Given the description of an element on the screen output the (x, y) to click on. 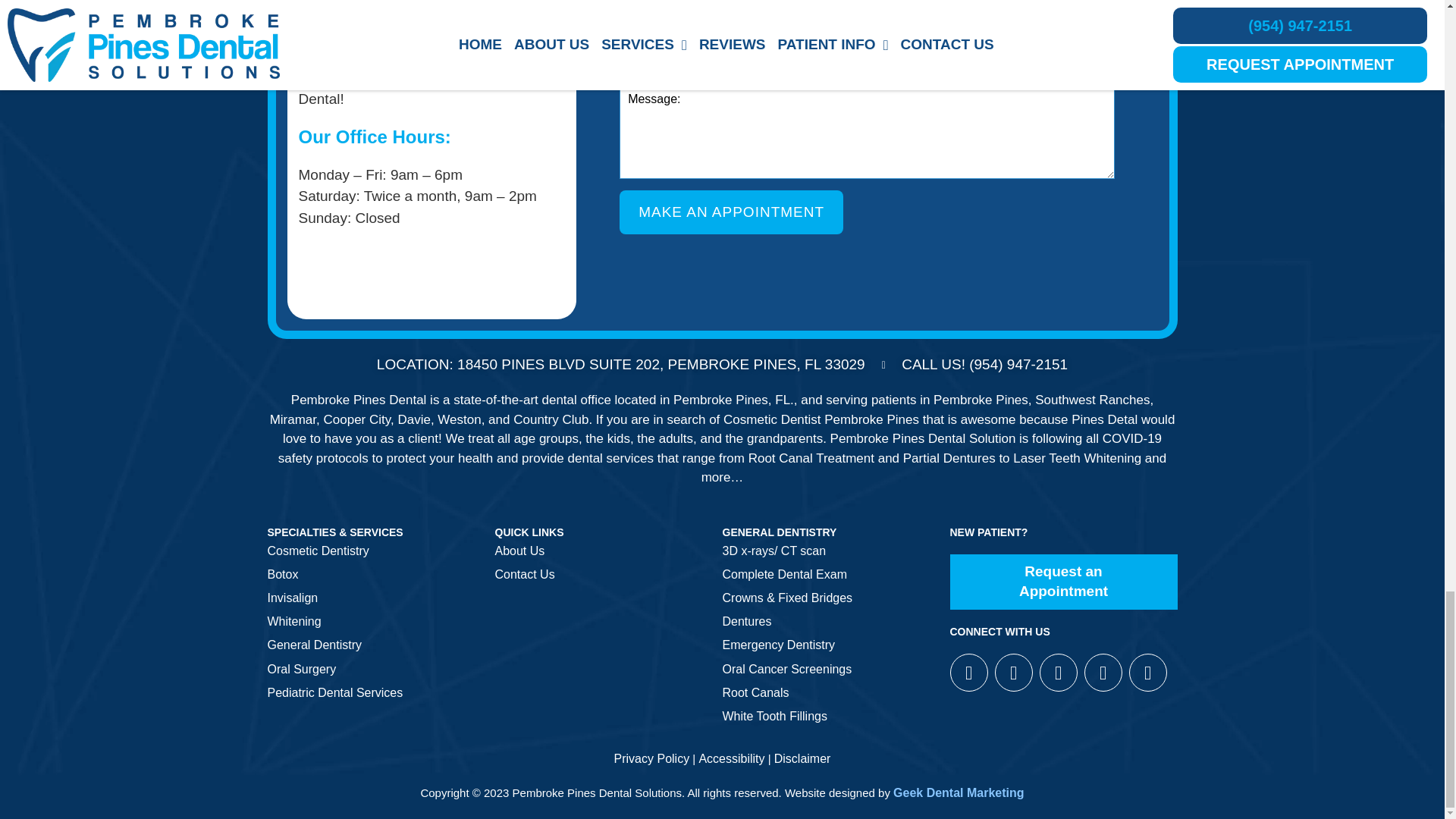
Make an Appointment (731, 212)
